Given the description of an element on the screen output the (x, y) to click on. 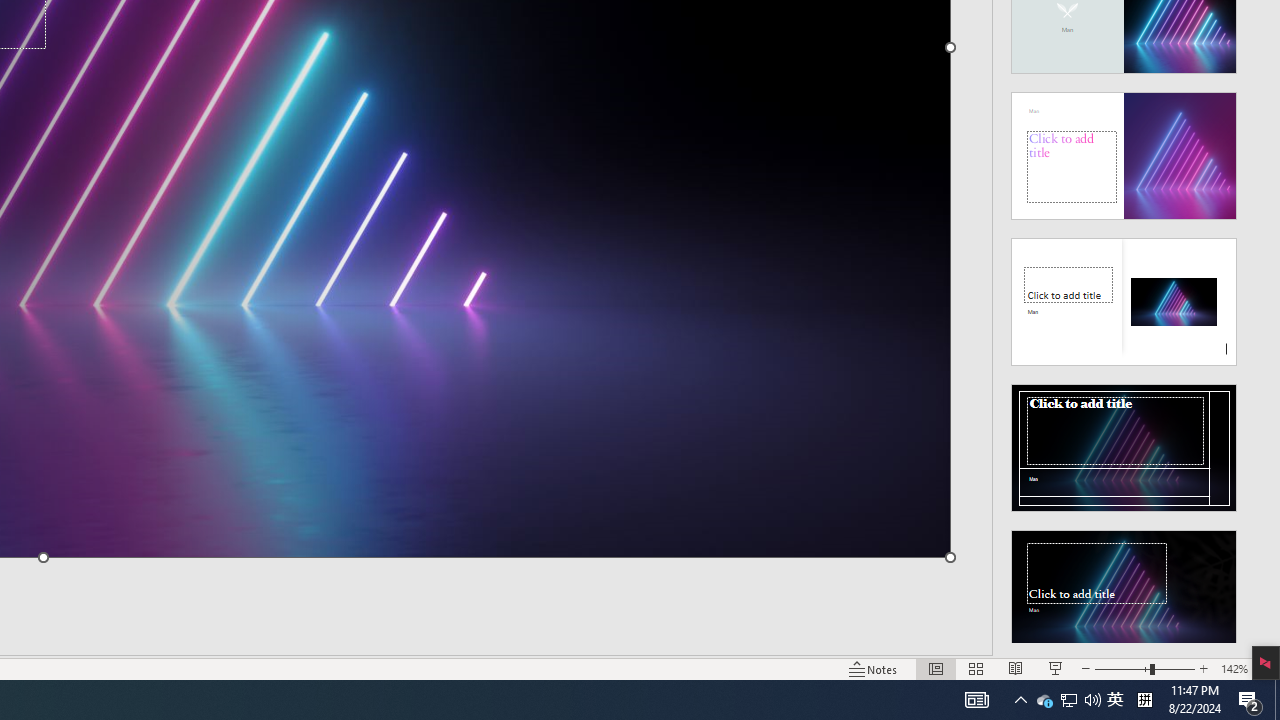
Design Idea (1124, 587)
Zoom 142% (1234, 668)
